Given the description of an element on the screen output the (x, y) to click on. 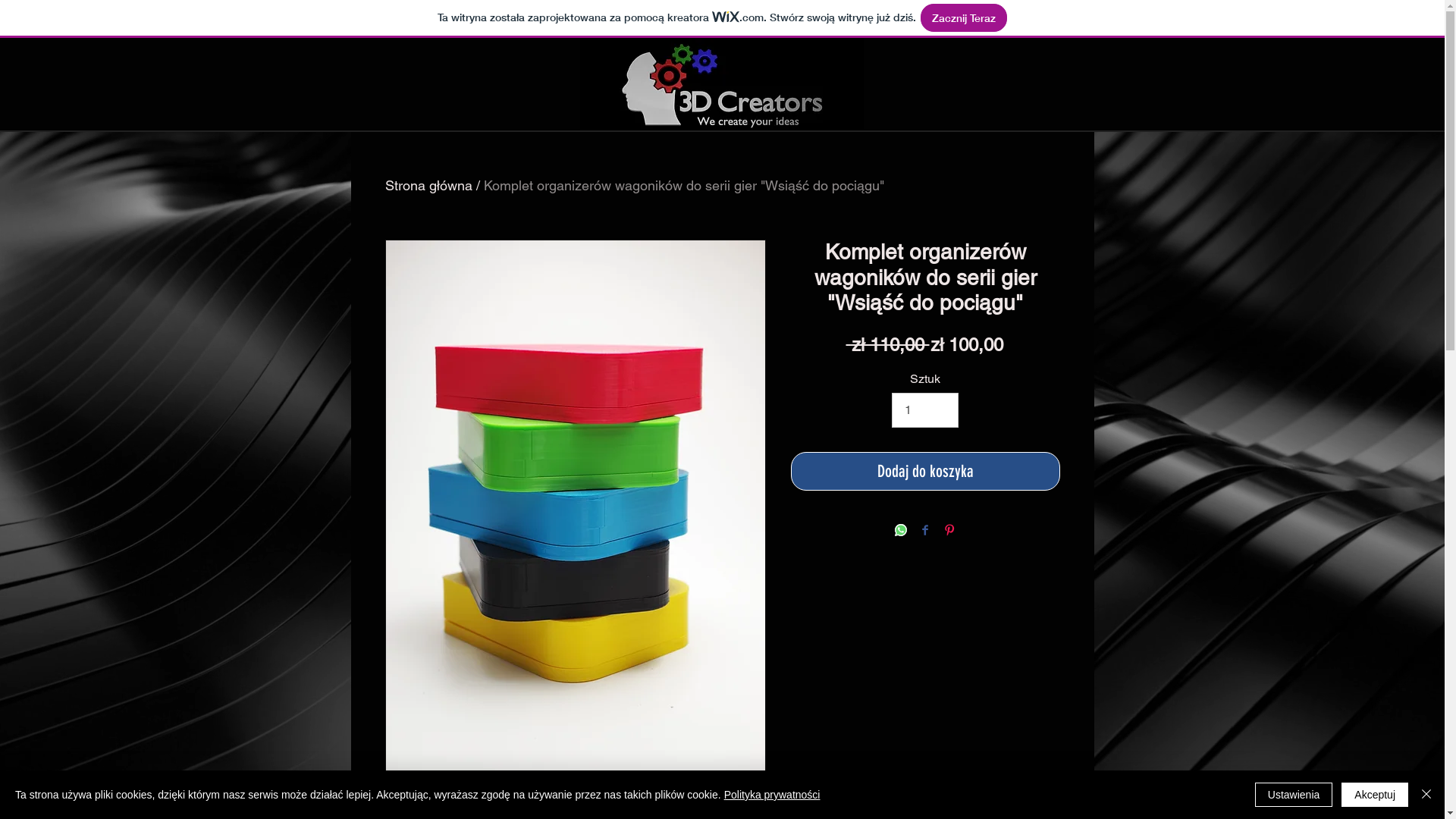
Dodaj do koszyka Element type: text (924, 470)
Ustawienia Element type: text (1293, 794)
Akceptuj Element type: text (1374, 794)
